Given the description of an element on the screen output the (x, y) to click on. 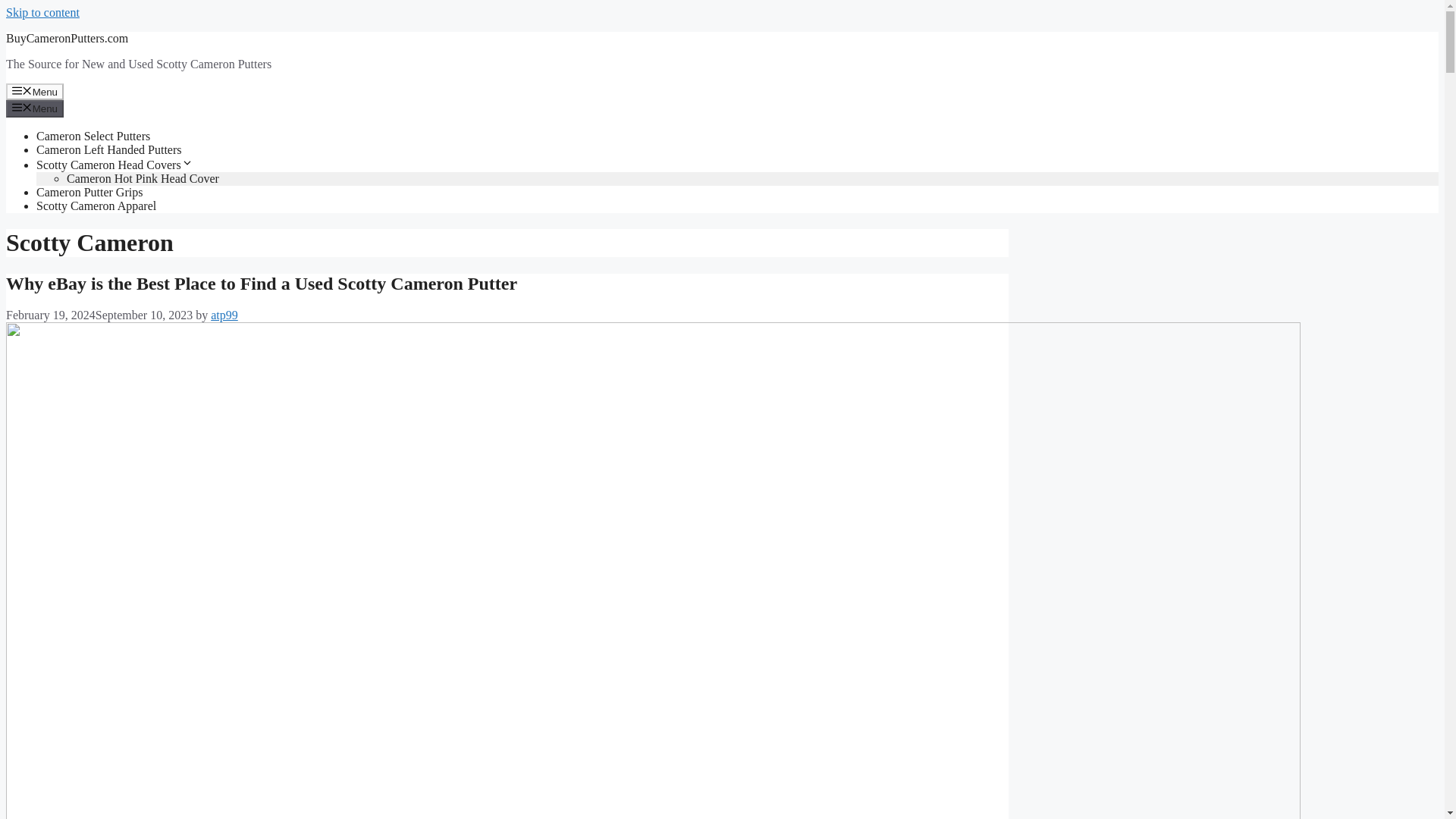
Cameron Select Putters (92, 135)
Menu (34, 91)
Cameron Putter Grips (89, 192)
Skip to content (42, 11)
Skip to content (42, 11)
Menu (34, 108)
Scotty Cameron Apparel (95, 205)
Cameron Hot Pink Head Cover (142, 178)
atp99 (224, 314)
View all posts by atp99 (224, 314)
BuyCameronPutters.com (66, 38)
Scotty Cameron Head Covers (114, 164)
Cameron Left Handed Putters (109, 149)
